Given the description of an element on the screen output the (x, y) to click on. 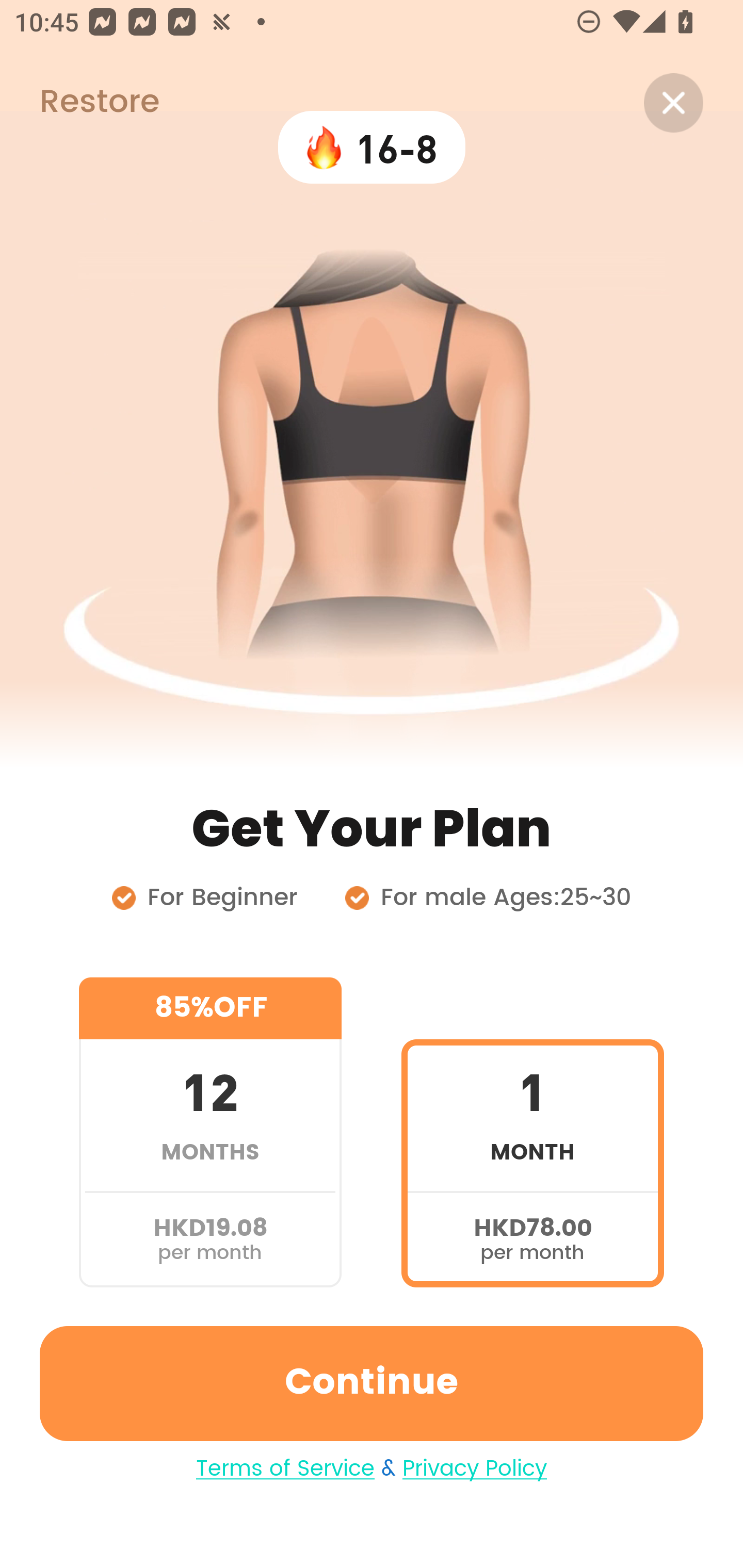
Restore (79, 102)
85%OFF 12 MONTHS per month HKD19.08 (209, 1131)
1 MONTH per month HKD78.00 (532, 1131)
Continue (371, 1383)
